Given the description of an element on the screen output the (x, y) to click on. 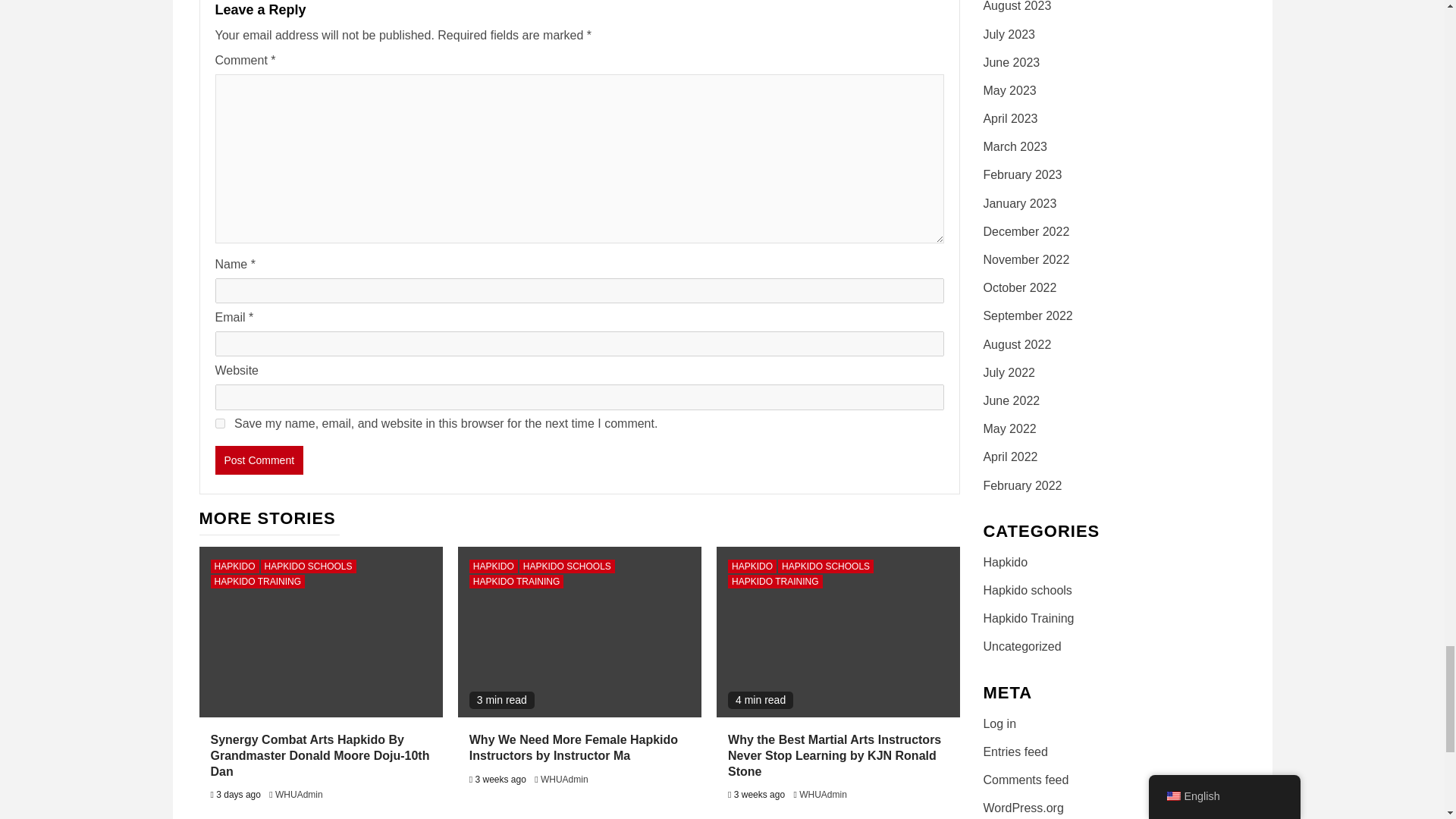
Post Comment (259, 460)
HAPKIDO TRAINING (257, 581)
HAPKIDO (235, 566)
WHUAdmin (299, 794)
HAPKIDO SCHOOLS (308, 566)
yes (220, 423)
Post Comment (259, 460)
